Given the description of an element on the screen output the (x, y) to click on. 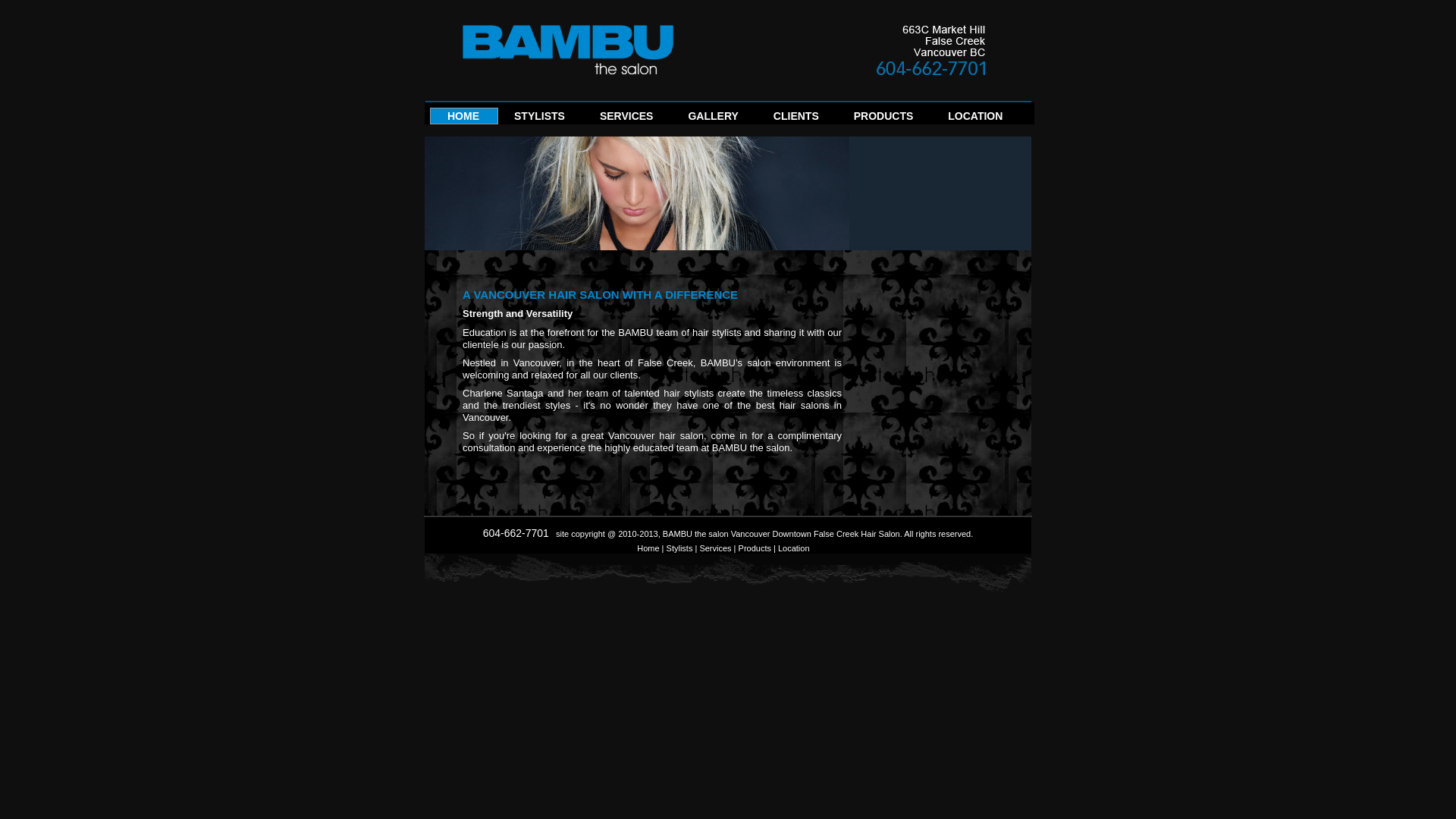
Services Element type: text (715, 547)
Products Element type: text (754, 547)
CLIENTS Element type: text (796, 120)
Vancouver Downtown False Creek Hair Salon Element type: text (815, 533)
PRODUCTS Element type: text (883, 120)
STYLISTS Element type: text (539, 120)
Home Element type: text (647, 547)
Location Element type: text (793, 547)
LOCATION Element type: text (974, 120)
SERVICES Element type: text (626, 120)
HOME Element type: text (463, 120)
GALLERY Element type: text (712, 120)
Stylists Element type: text (679, 547)
